Given the description of an element on the screen output the (x, y) to click on. 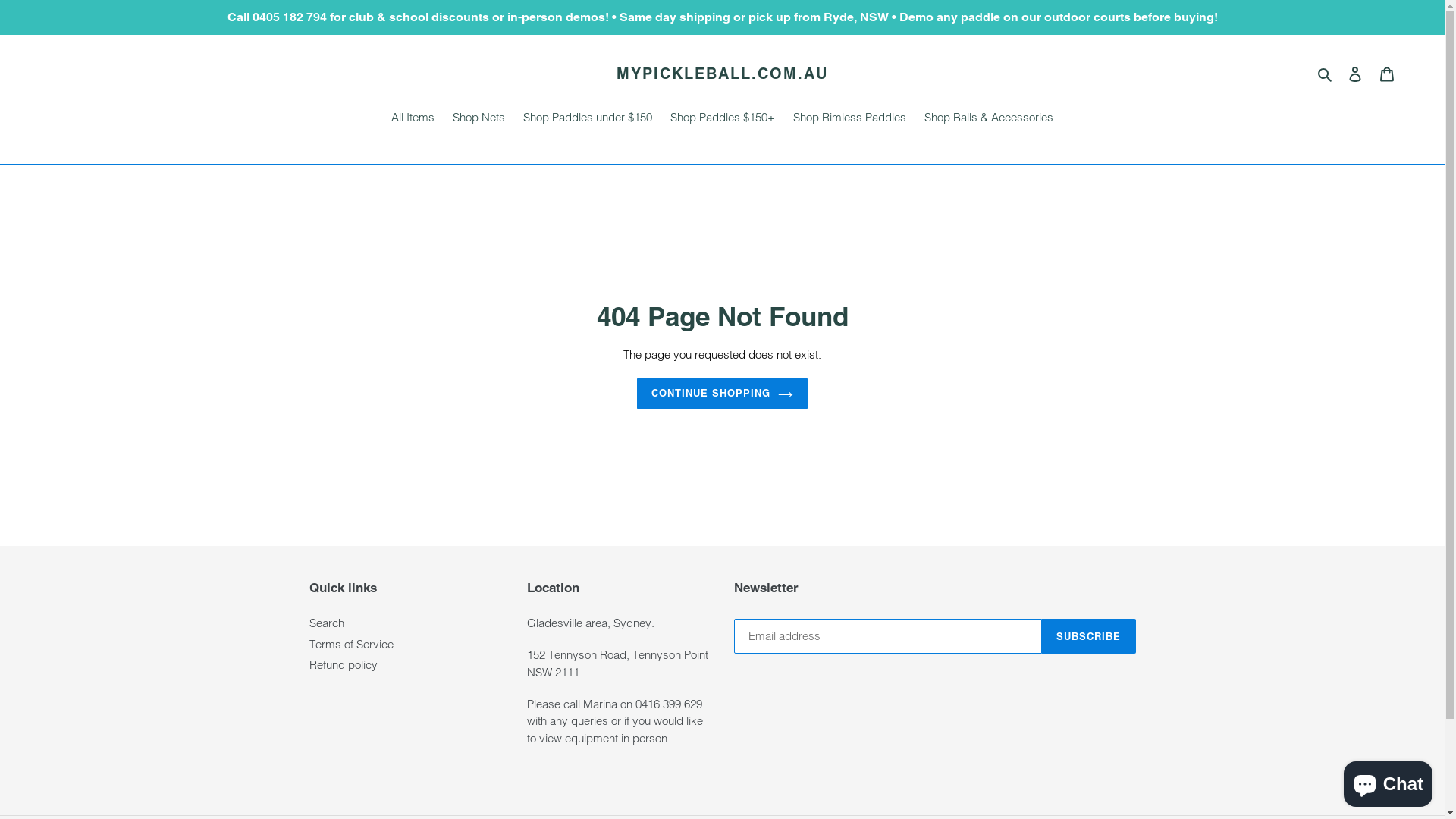
Terms of Service Element type: text (351, 644)
Shop Balls & Accessories Element type: text (988, 118)
SUBSCRIBE Element type: text (1088, 635)
CONTINUE SHOPPING Element type: text (722, 393)
MYPICKLEBALL.COM.AU Element type: text (722, 73)
Shopify online store chat Element type: hover (1388, 780)
Cart Element type: text (1386, 73)
All Items Element type: text (412, 118)
Shop Rimless Paddles Element type: text (849, 118)
Shop Paddles $150+ Element type: text (722, 118)
Shop Paddles under $150 Element type: text (587, 118)
Search Element type: text (326, 622)
Search Element type: text (1325, 73)
Shop Nets Element type: text (478, 118)
Log in Element type: text (1355, 73)
Refund policy Element type: text (343, 664)
